Given the description of an element on the screen output the (x, y) to click on. 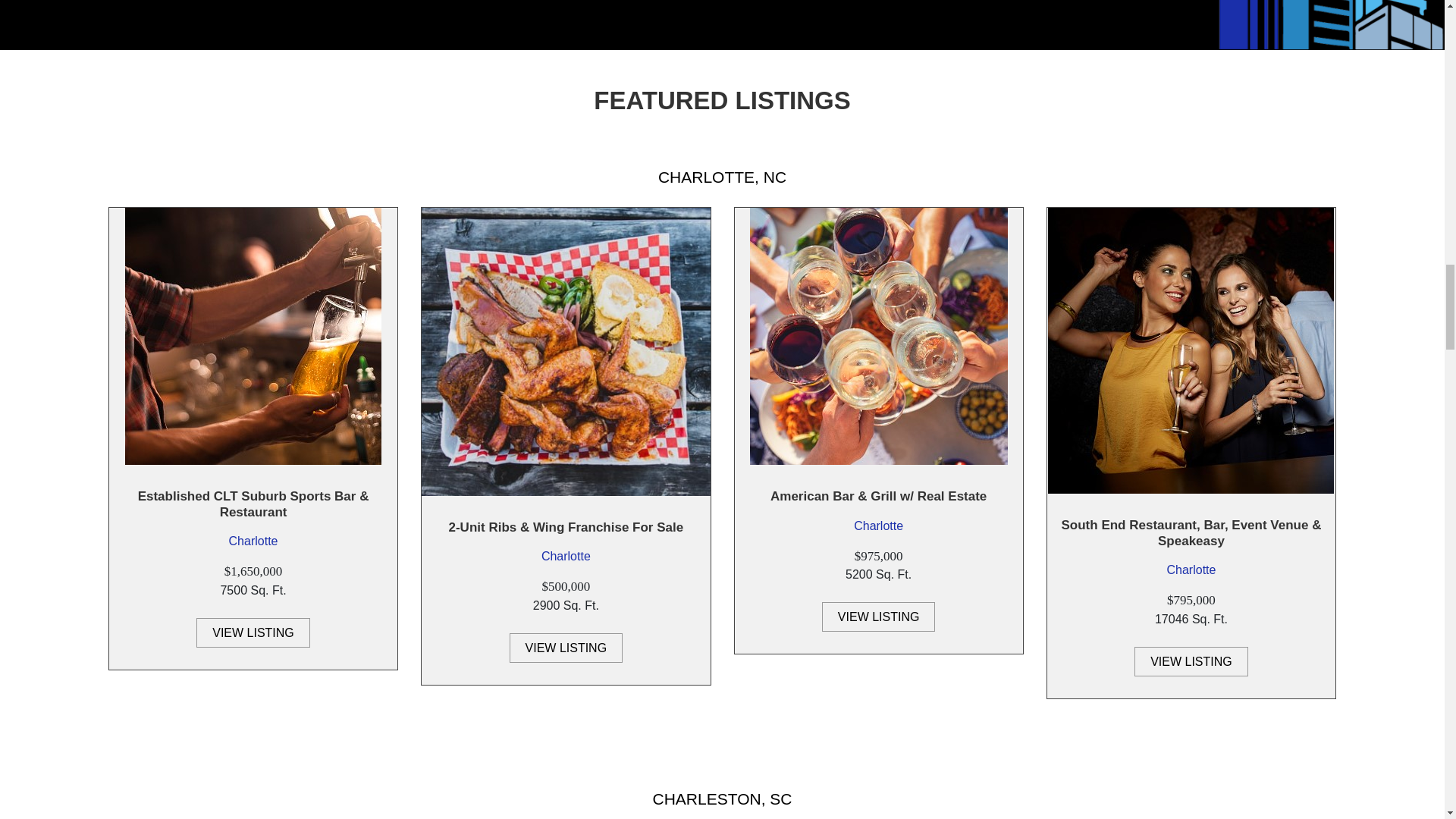
Bartender pureeing beer from a tap (253, 336)
Unsplash.ChickenWingsPlatter (566, 351)
Unsplash.WineToast (878, 336)
